Given the description of an element on the screen output the (x, y) to click on. 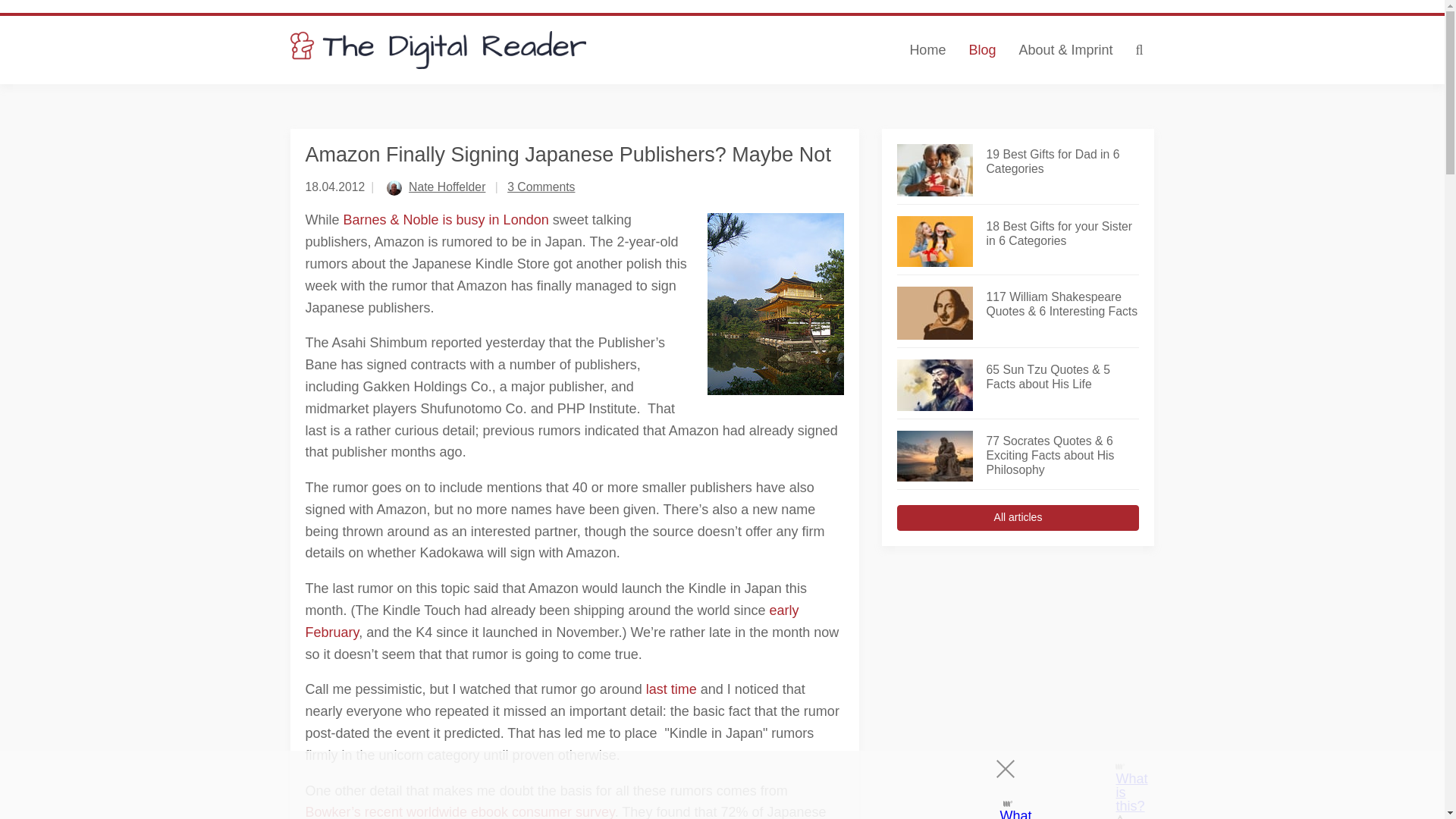
The Digital Reader (437, 49)
Nate Hoffelder (446, 186)
Blog (981, 49)
early February (550, 620)
3rd party ad content (708, 785)
3rd party ad content (1017, 663)
19 Best Gifts for Dad in 6 Categories (1061, 162)
last time (671, 688)
3 Comments (540, 186)
18 Best Gifts for your Sister in 6 Categories (1061, 234)
Home (927, 49)
